Given the description of an element on the screen output the (x, y) to click on. 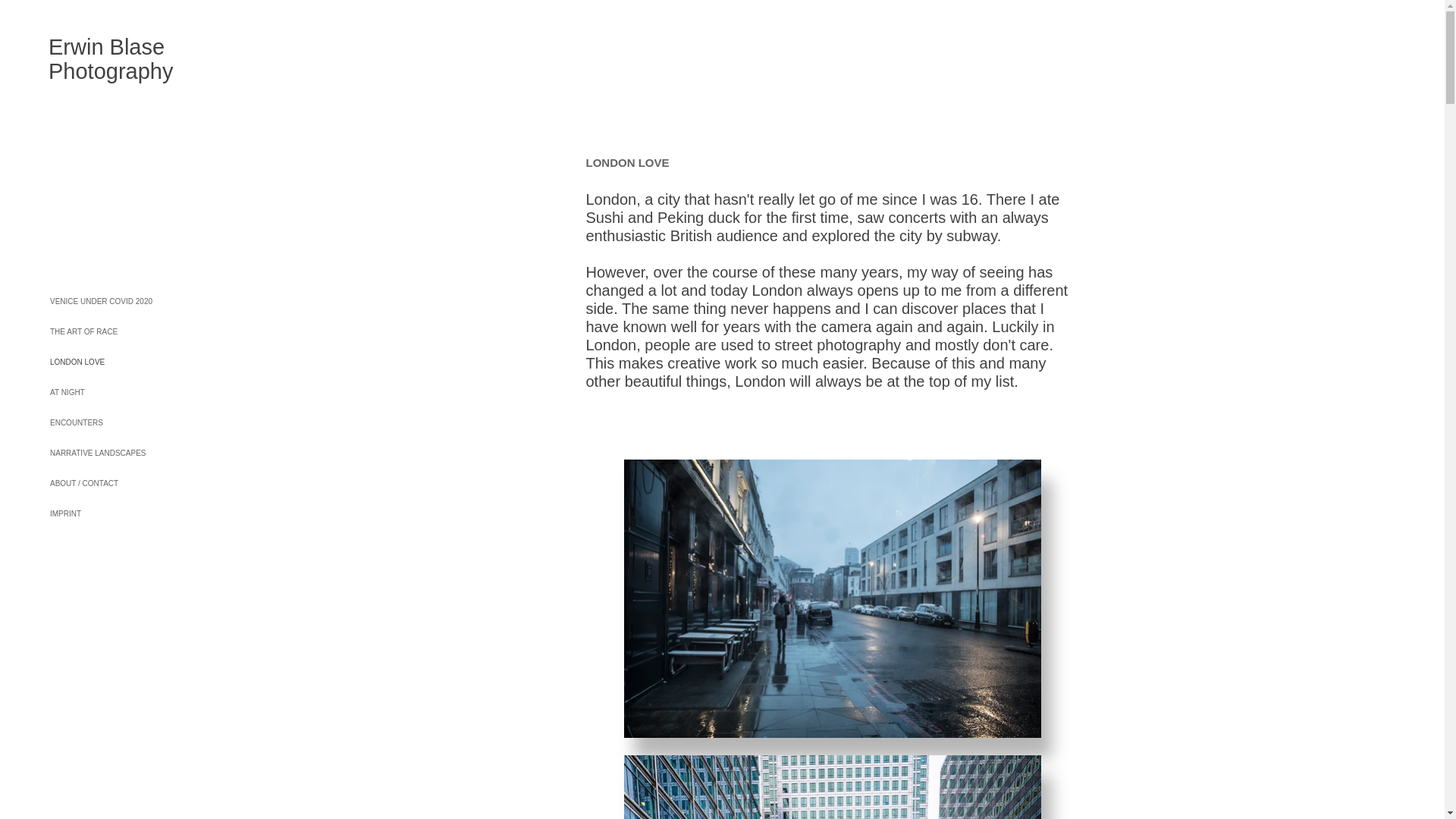
AT NIGHT (129, 392)
THE ART OF RACE (129, 331)
LONDON LOVE (129, 362)
ENCOUNTERS (129, 422)
VENICE UNDER COVID 2020 (129, 301)
NARRATIVE LANDSCAPES (129, 453)
Erwin Blase (106, 46)
IMPRINT (129, 513)
